Given the description of an element on the screen output the (x, y) to click on. 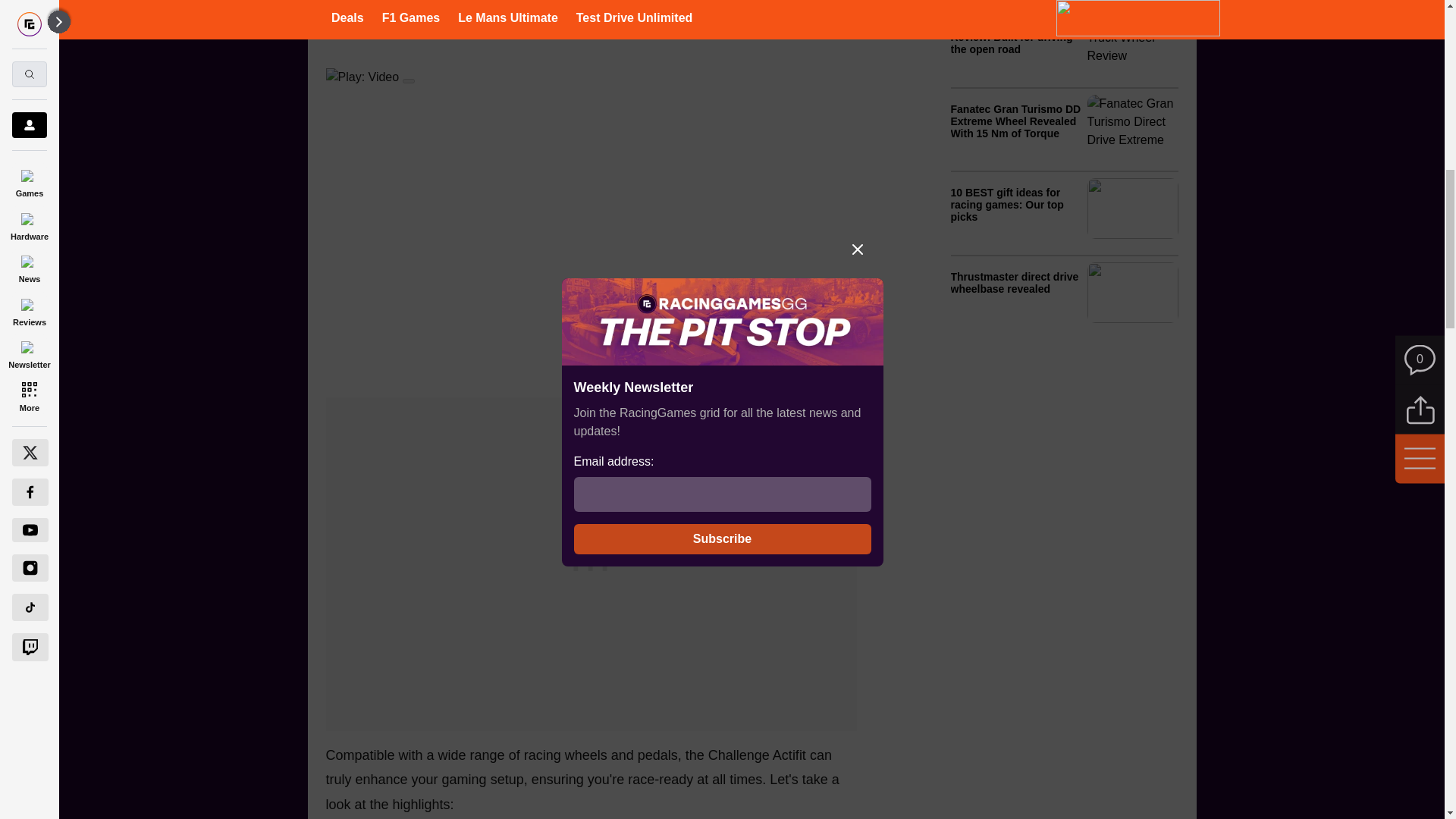
Play: Video (591, 76)
